Given the description of an element on the screen output the (x, y) to click on. 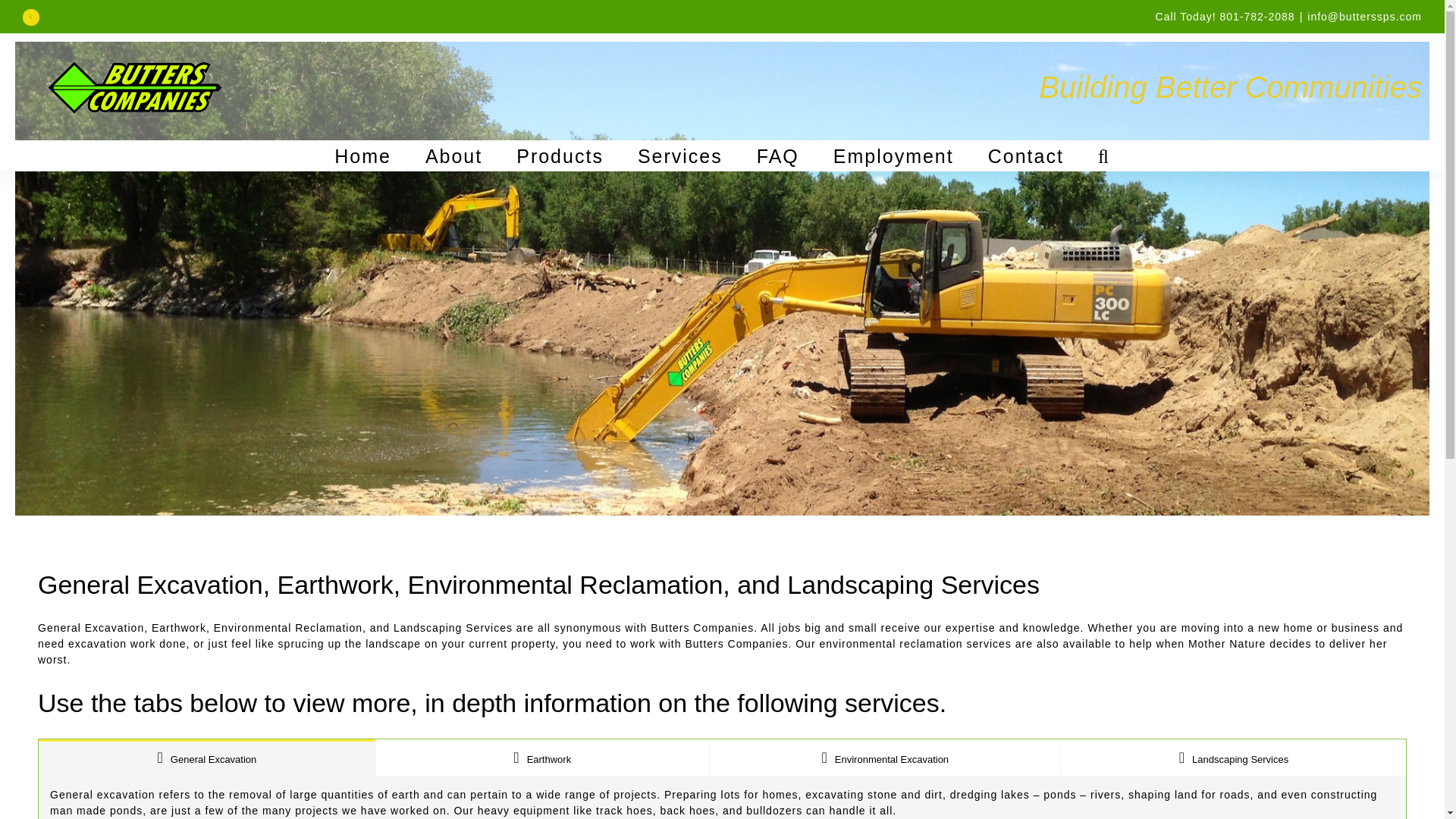
Home (362, 155)
General Excavation (207, 757)
FAQ (778, 155)
Facebook (31, 17)
About (453, 155)
Services (679, 155)
Products (560, 155)
Employment (892, 155)
Contact (1026, 155)
